Given the description of an element on the screen output the (x, y) to click on. 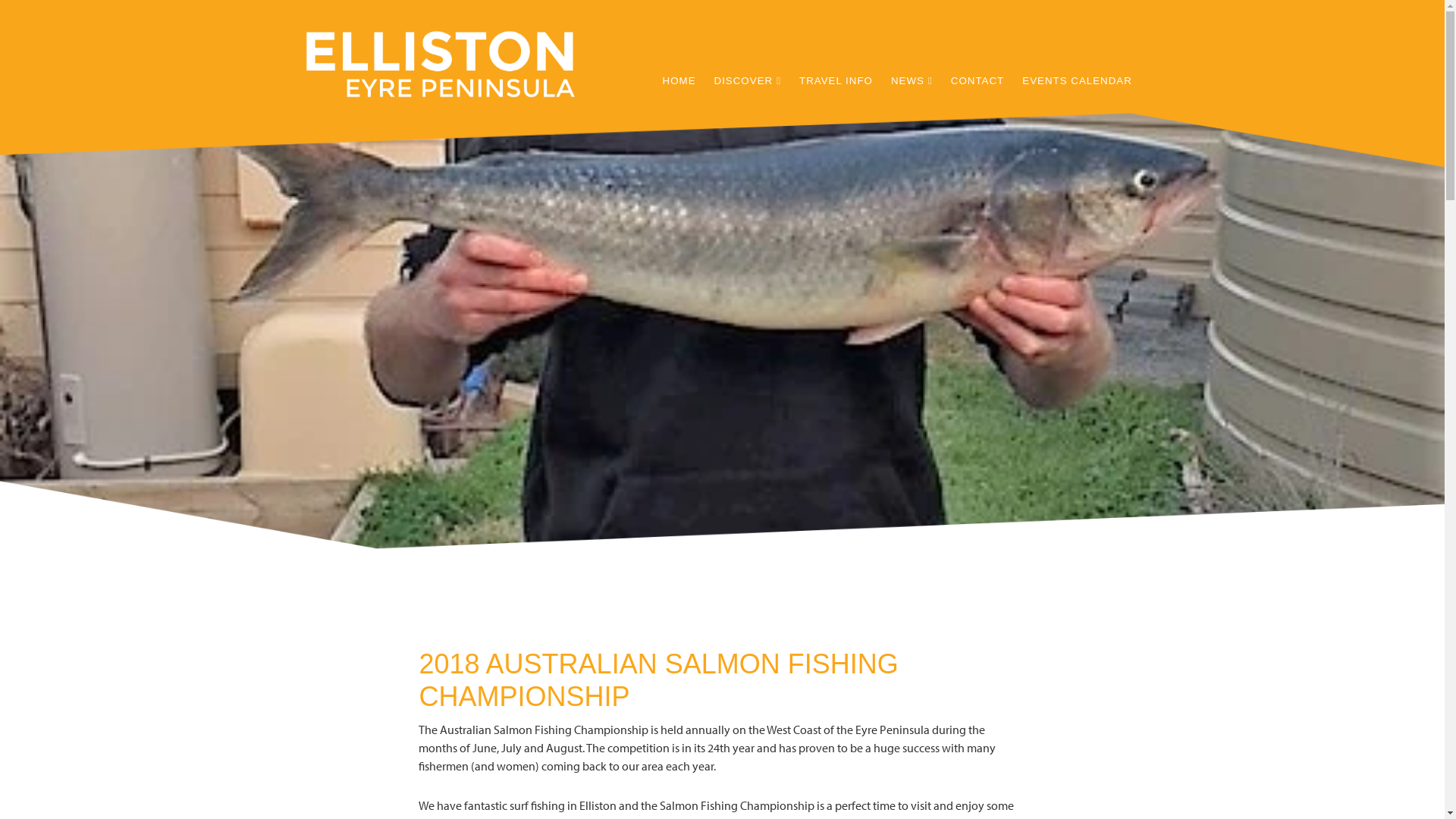
TRAVEL INFO Element type: text (835, 65)
CONTACT Element type: text (977, 65)
NEWS Element type: text (911, 65)
DISCOVER Element type: text (747, 65)
Search Element type: text (28, 12)
EVENTS CALENDAR Element type: text (1077, 65)
Elliston | Official Tourism Website Element type: text (439, 67)
HOME Element type: text (679, 65)
